Given the description of an element on the screen output the (x, y) to click on. 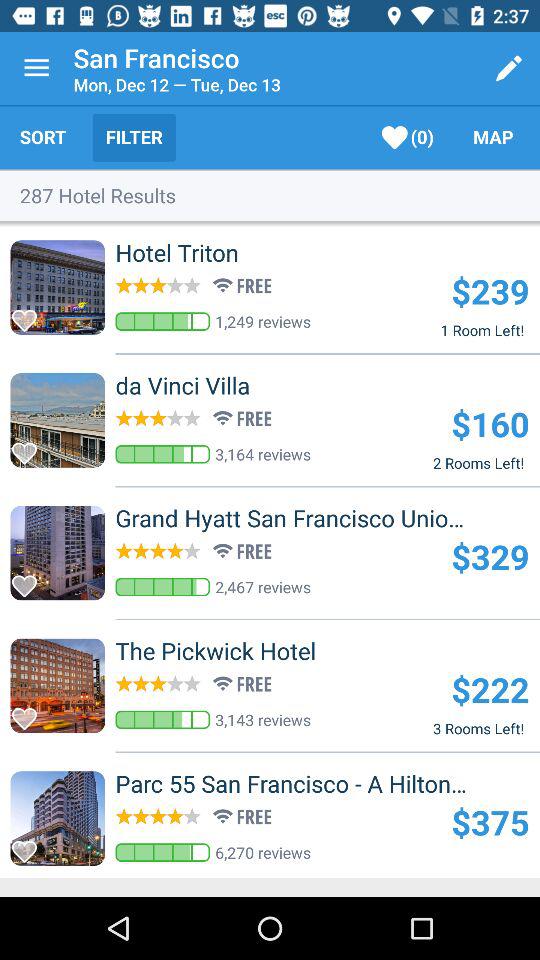
favart (30, 845)
